Given the description of an element on the screen output the (x, y) to click on. 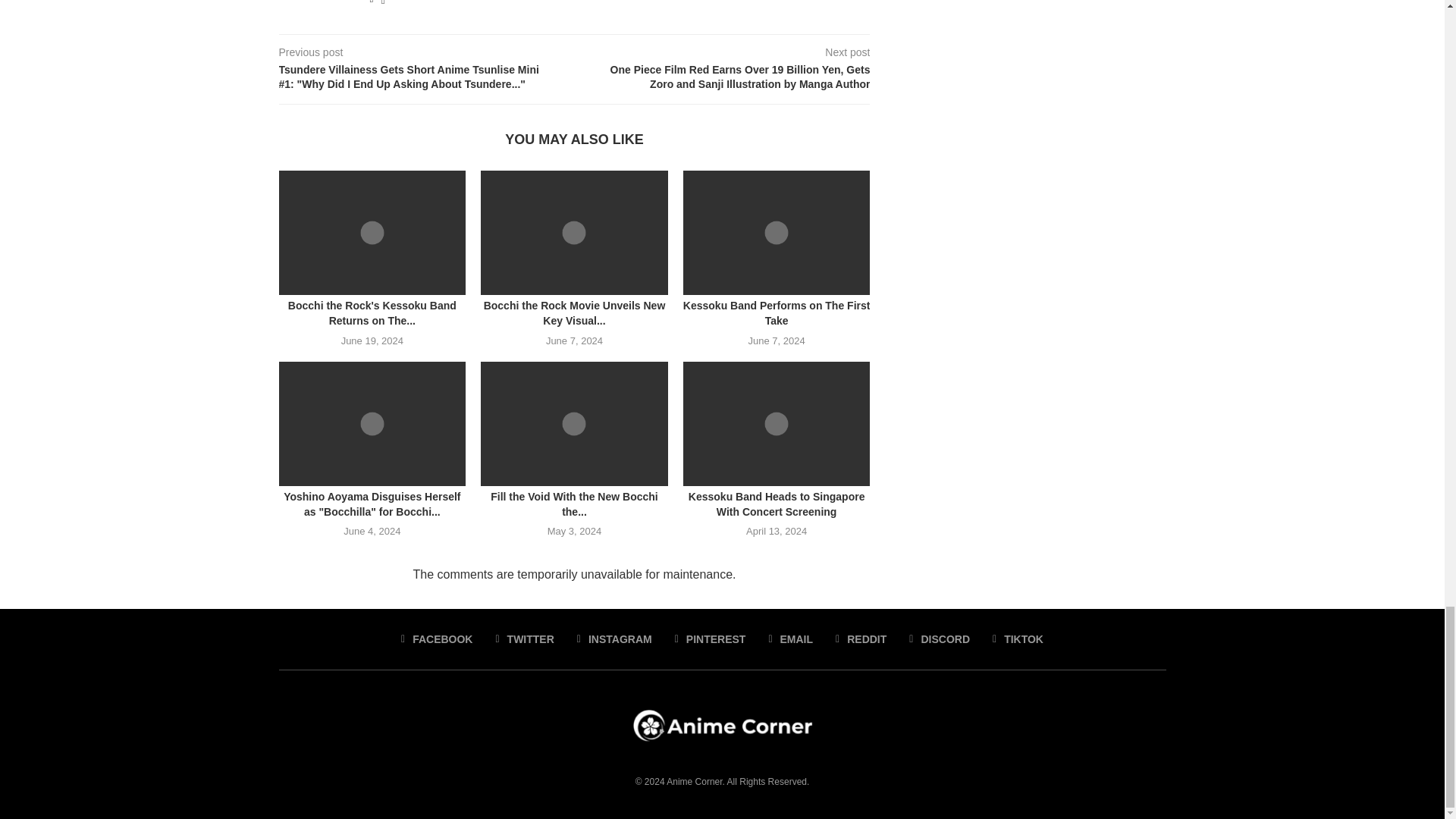
Bocchi the Rock Movie Unveils New Key Visual for 2nd Part (574, 232)
Kessoku Band Performs on The First Take (776, 232)
Yoshino Aoyama Disguises Herself as (372, 423)
Bocchi the Rock's Kessoku Band Returns on The First Take (372, 232)
Kessoku Band Heads to Singapore With Concert Screening (776, 423)
